Given the description of an element on the screen output the (x, y) to click on. 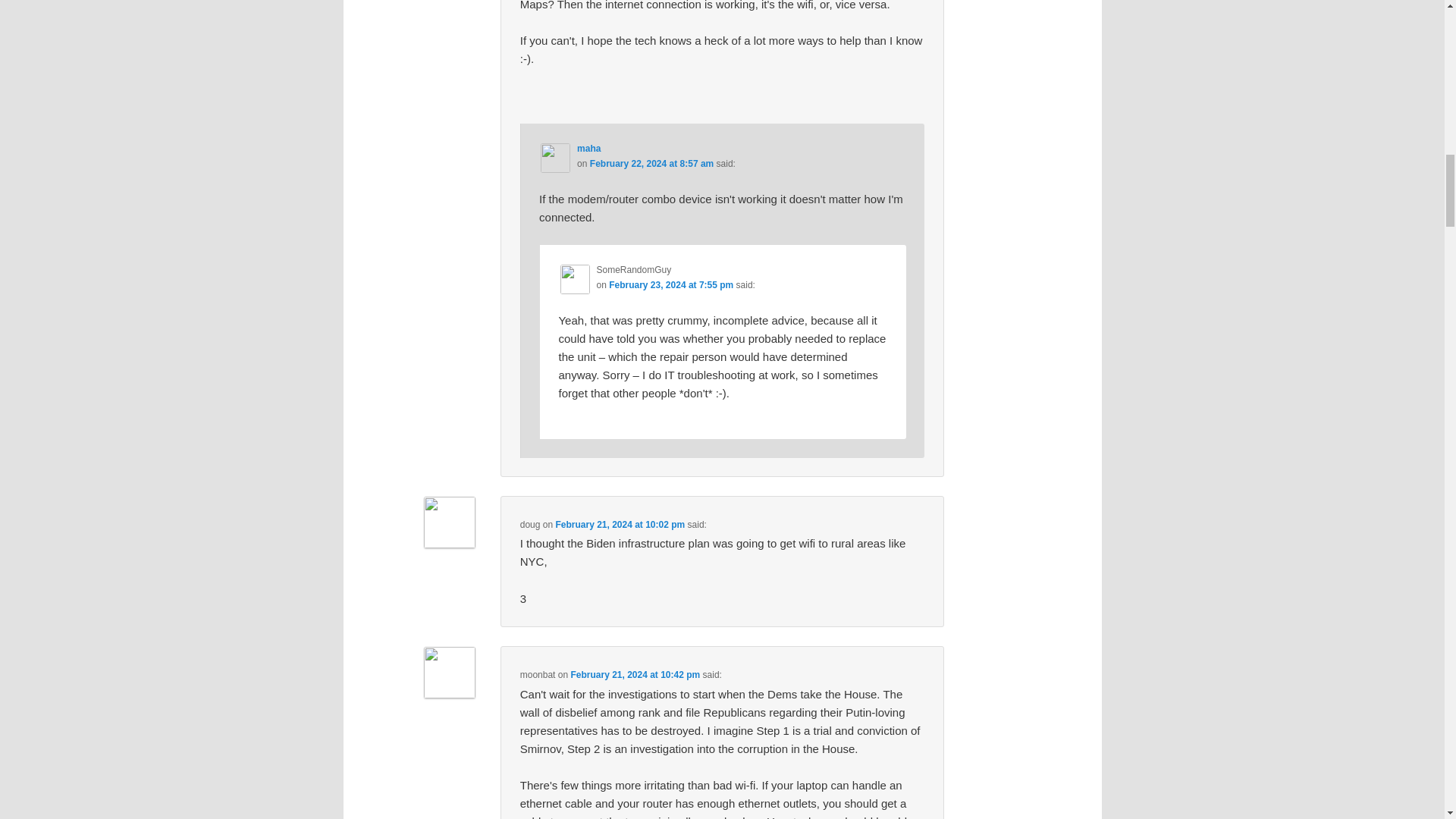
February 21, 2024 at 10:02 pm (619, 524)
February 23, 2024 at 7:55 pm (670, 285)
maha (587, 148)
February 21, 2024 at 10:42 pm (635, 674)
February 22, 2024 at 8:57 am (651, 163)
